Given the description of an element on the screen output the (x, y) to click on. 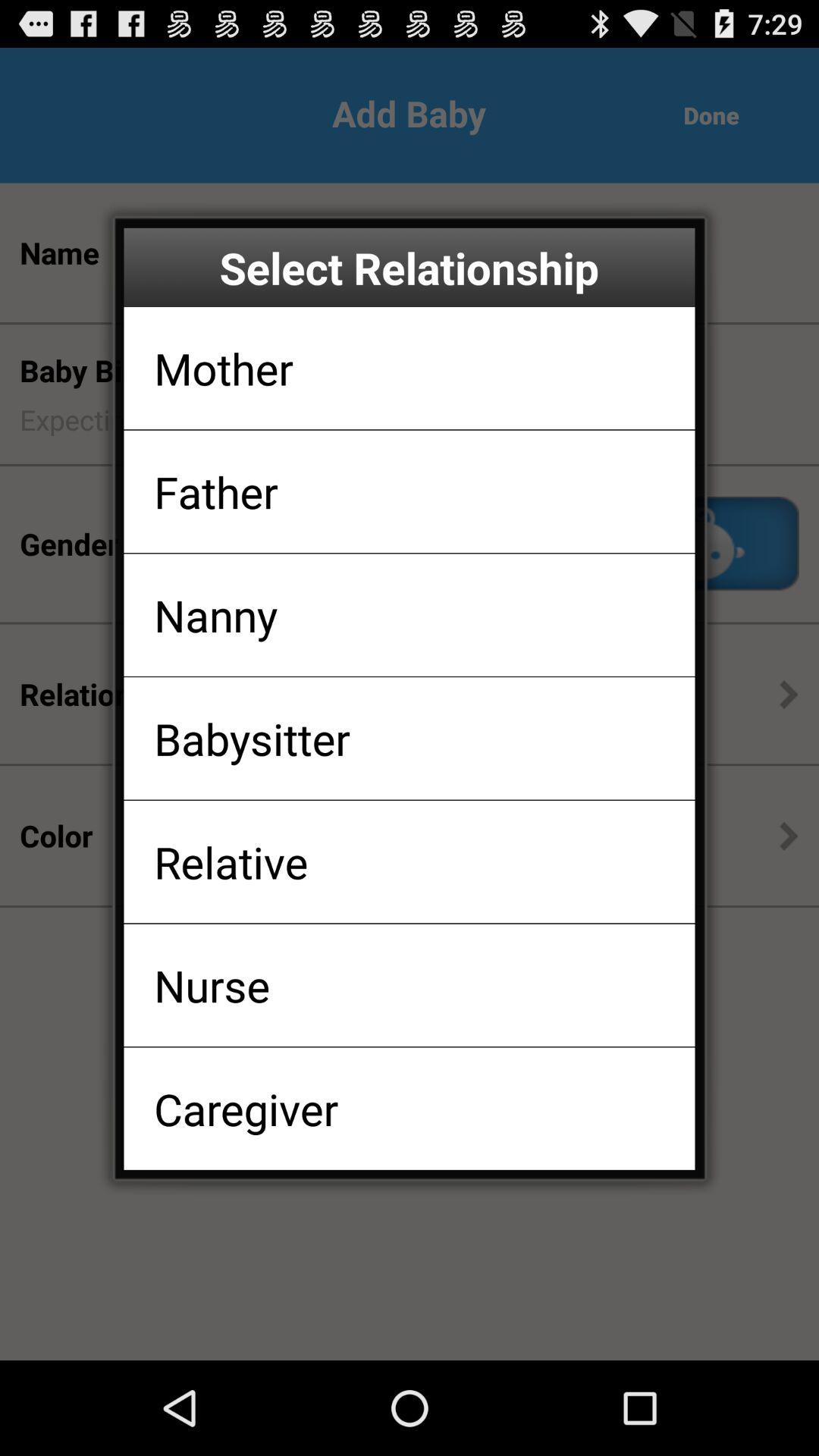
click the icon below the father item (215, 614)
